Given the description of an element on the screen output the (x, y) to click on. 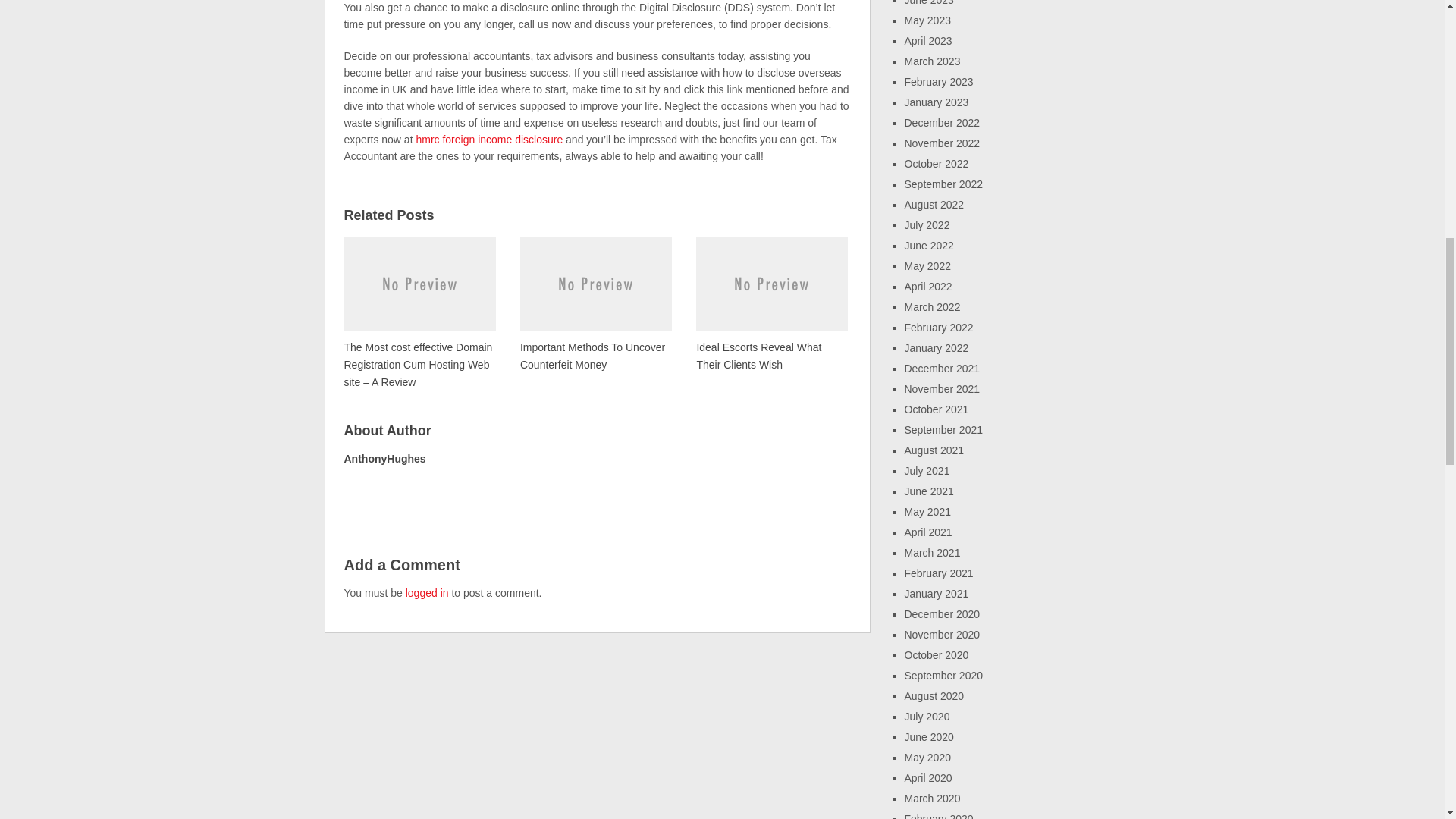
Important Methods To Uncover Counterfeit Money (595, 302)
Ideal Escorts Reveal What Their Clients Wish (771, 302)
logged in (427, 592)
Ideal Escorts Reveal What Their Clients Wish (771, 302)
June 2023 (928, 2)
hmrc foreign income disclosure (488, 139)
Important Methods To Uncover Counterfeit Money (595, 302)
